Given the description of an element on the screen output the (x, y) to click on. 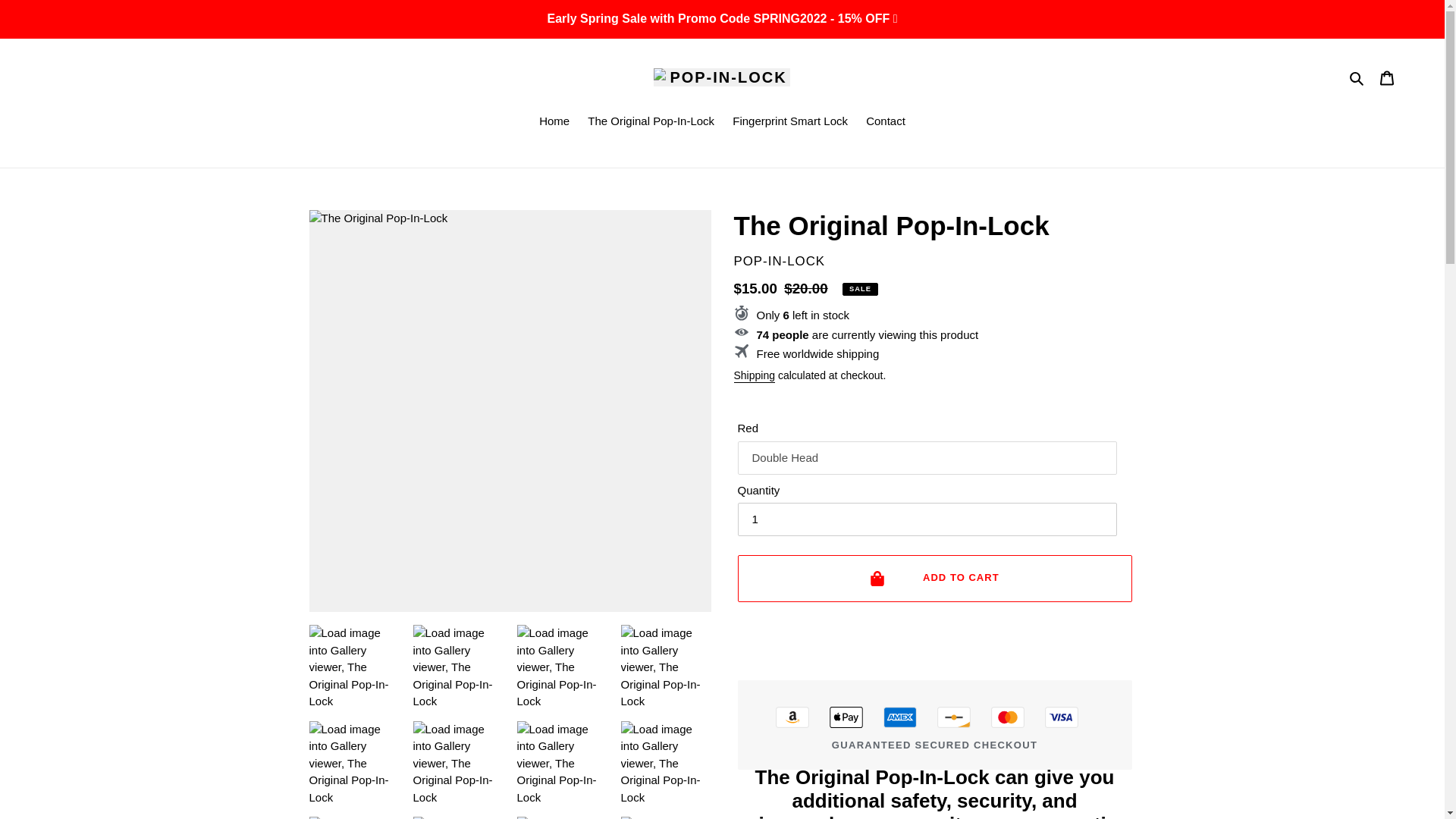
Fingerprint Smart Lock (790, 121)
The Original Pop-In-Lock (650, 121)
Shipping (754, 376)
Search (1357, 76)
Contact (885, 121)
Home (553, 121)
Cart (1387, 77)
1 (926, 519)
ADD TO CART (933, 578)
